Given the description of an element on the screen output the (x, y) to click on. 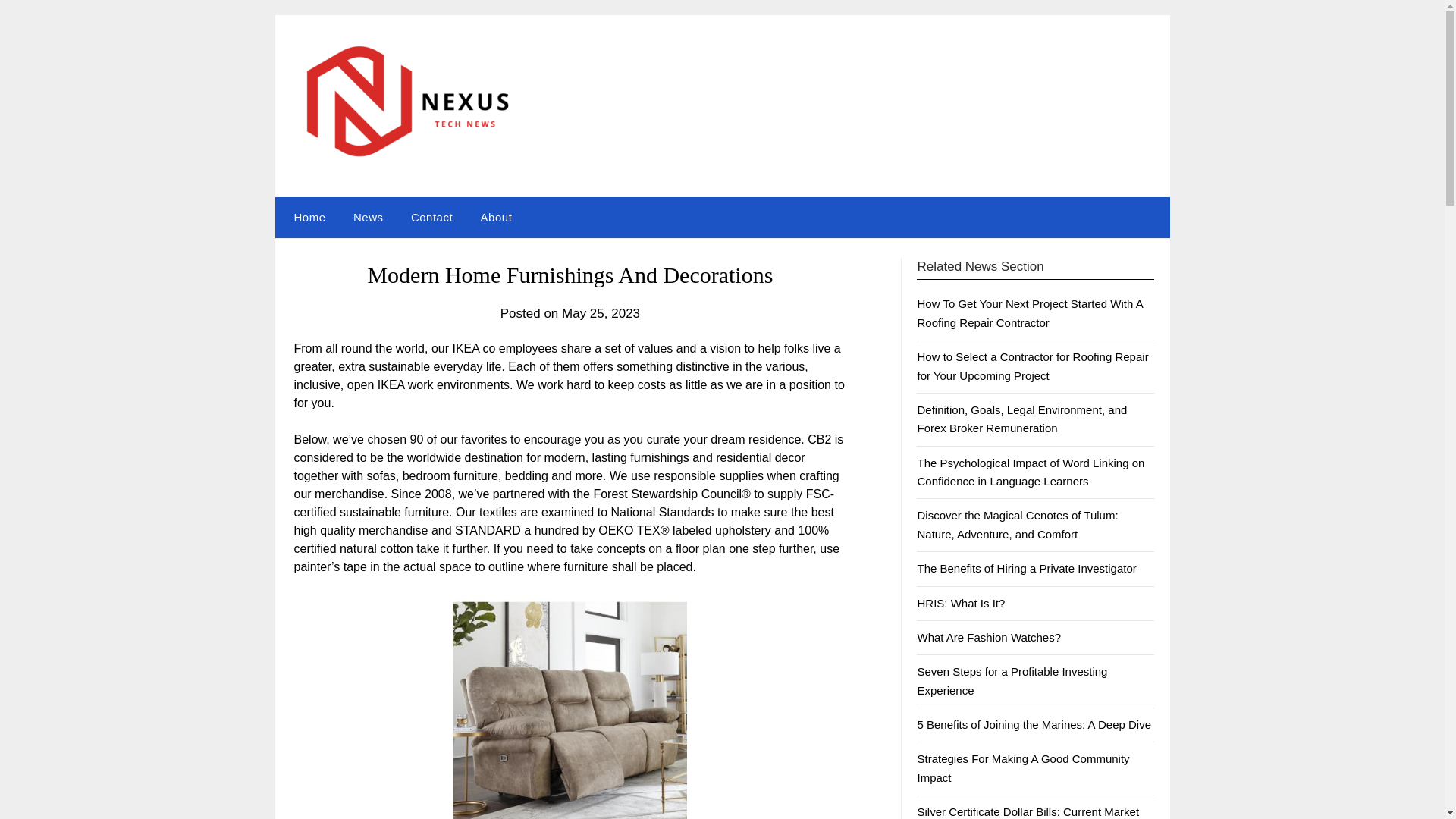
What Are Fashion Watches? (989, 636)
News (368, 217)
Strategies For Making A Good Community Impact (1023, 767)
The Benefits of Hiring a Private Investigator (1026, 567)
Contact (431, 217)
About (496, 217)
